Given the description of an element on the screen output the (x, y) to click on. 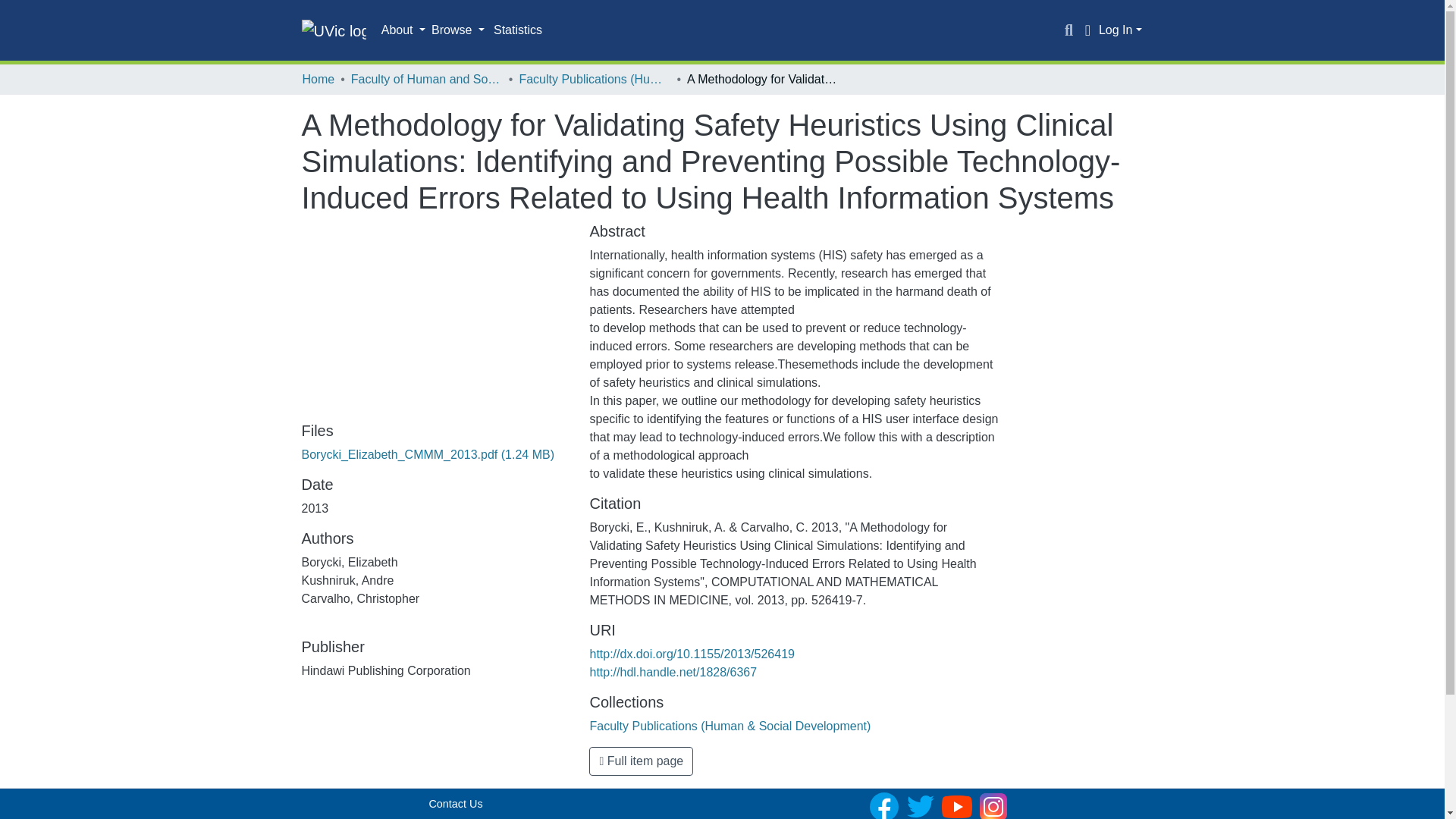
Statistics (517, 30)
Contact Us (454, 803)
Language switch (1087, 30)
Statistics (517, 30)
Browse (457, 30)
Log In (1119, 29)
Full item page (641, 760)
Search (1068, 30)
Home (317, 79)
Faculty of Human and Social Development (426, 79)
About (403, 30)
